Given the description of an element on the screen output the (x, y) to click on. 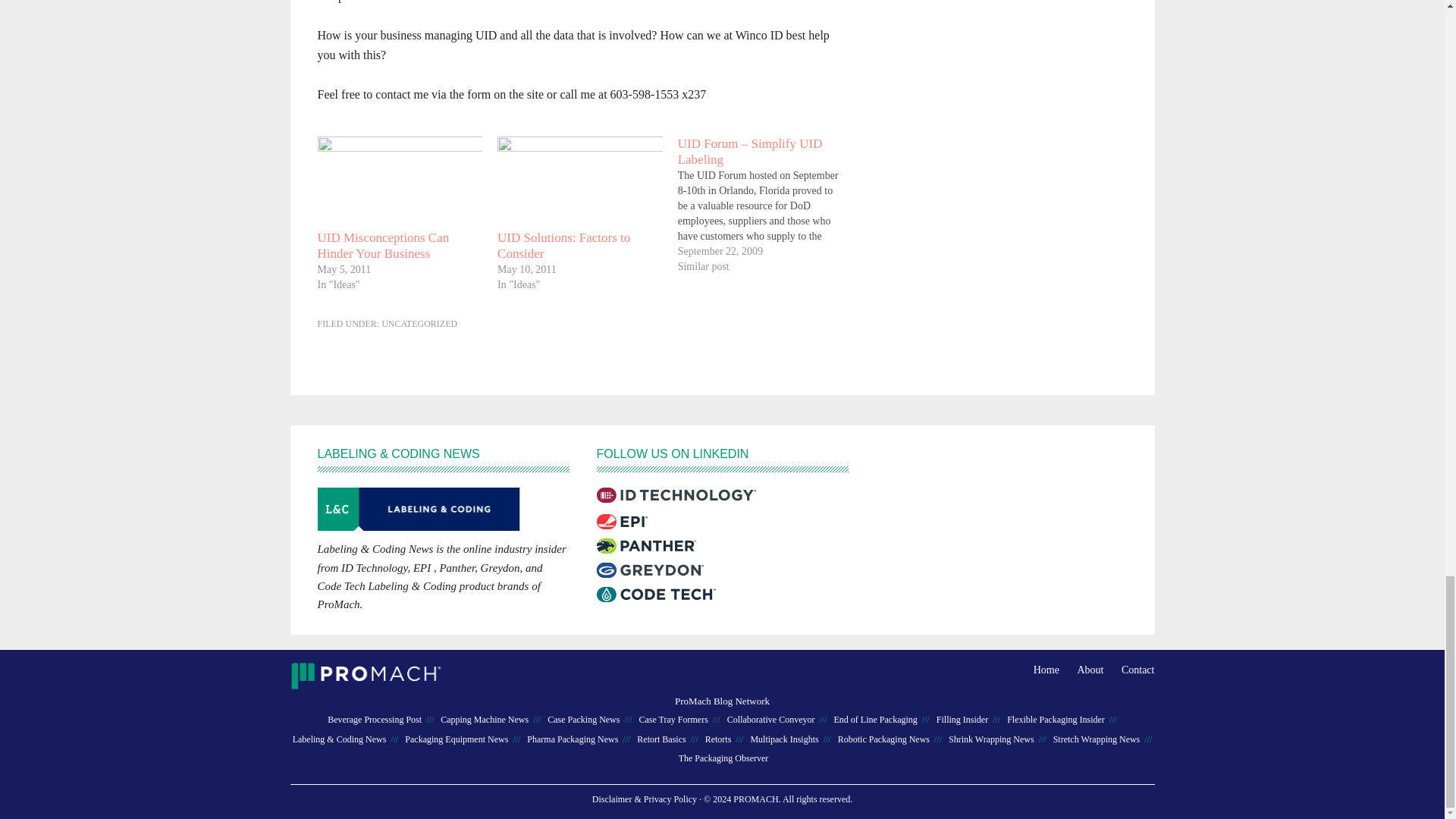
UID Solutions: Factors to Consider (563, 245)
UID Misconceptions Can Hinder Your Business (382, 245)
UID Misconceptions Can Hinder Your Business (399, 182)
UID Solutions: Factors to Consider (579, 182)
UID Misconceptions Can Hinder Your Business (382, 245)
